Given the description of an element on the screen output the (x, y) to click on. 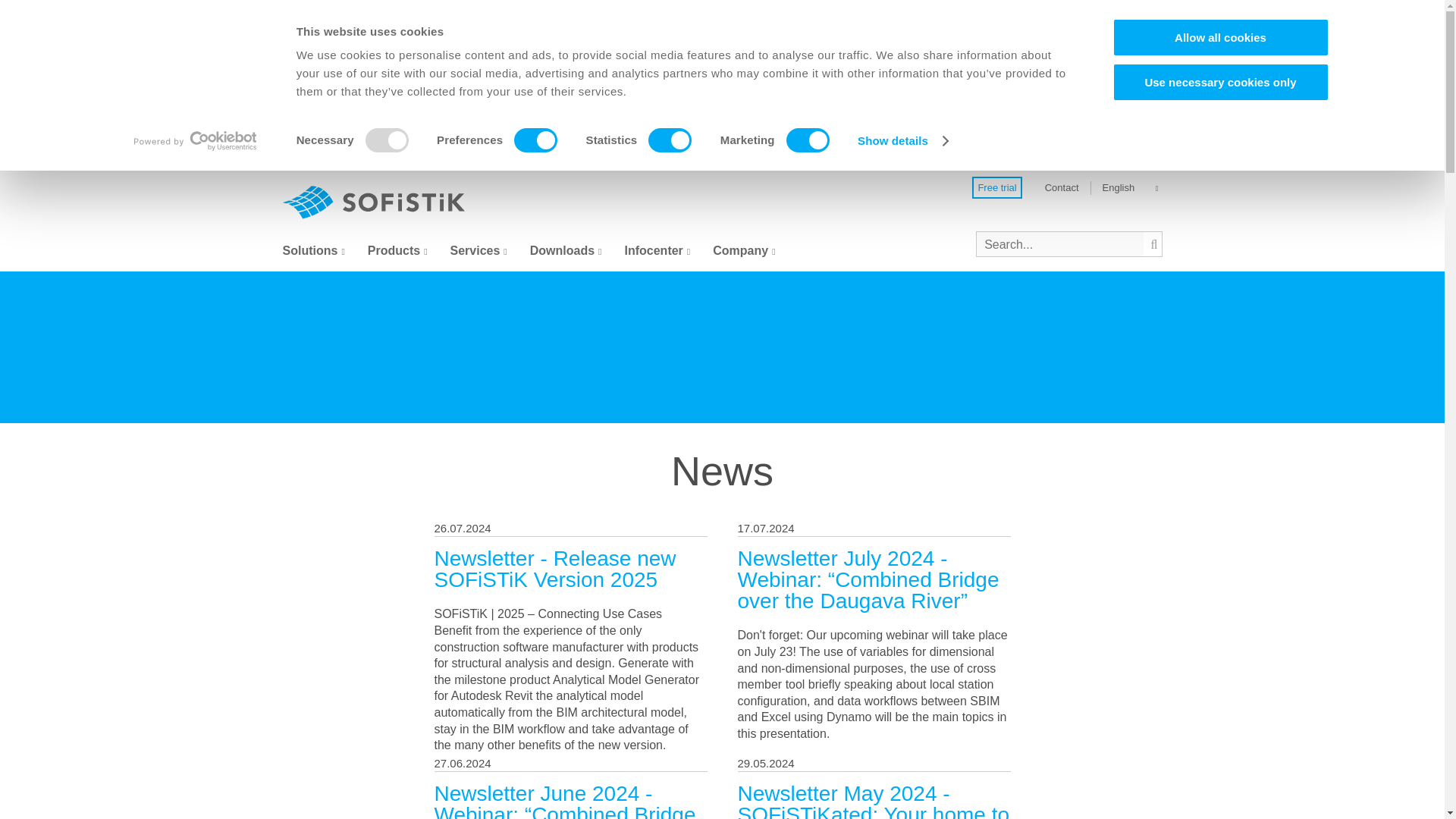
Free trial (997, 187)
Allow all cookies (1219, 37)
Show details (902, 140)
back to homepage (373, 202)
Contact (1061, 187)
Use necessary cookies only (1219, 81)
